Given the description of an element on the screen output the (x, y) to click on. 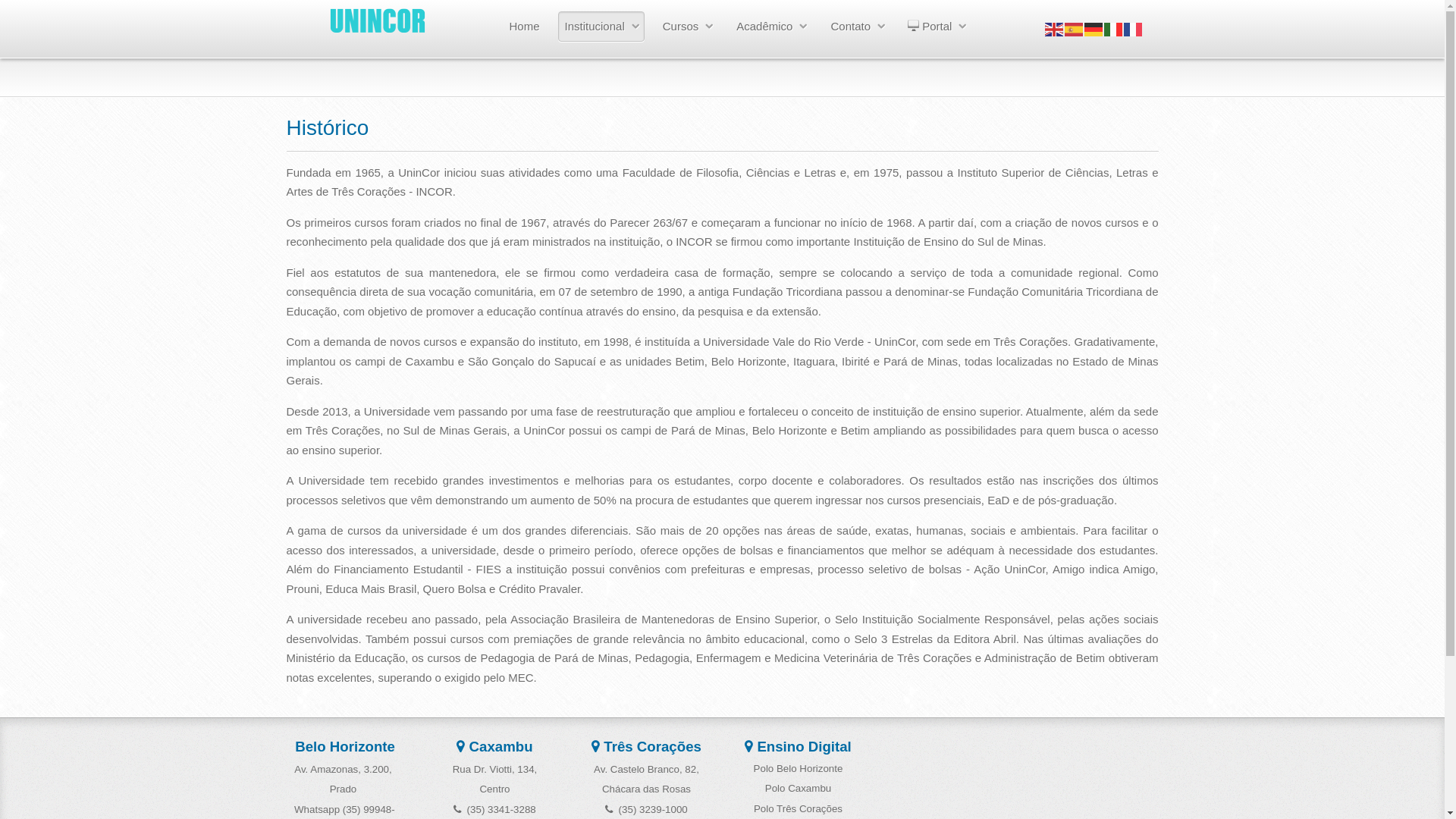
Portal Element type: text (936, 26)
 Belo Horizonte Element type: text (343, 746)
Home Element type: text (524, 26)
 Caxambu Element type: text (494, 746)
English Element type: hover (1054, 27)
Institucional Element type: text (600, 26)
Deutsch Element type: hover (1094, 27)
Accessibility options Element type: hover (1419, 102)
Italiano Element type: hover (1113, 27)
Cursos Element type: text (687, 26)
Contato Element type: text (856, 26)
 Ensino Digital Element type: text (797, 746)
